Given the description of an element on the screen output the (x, y) to click on. 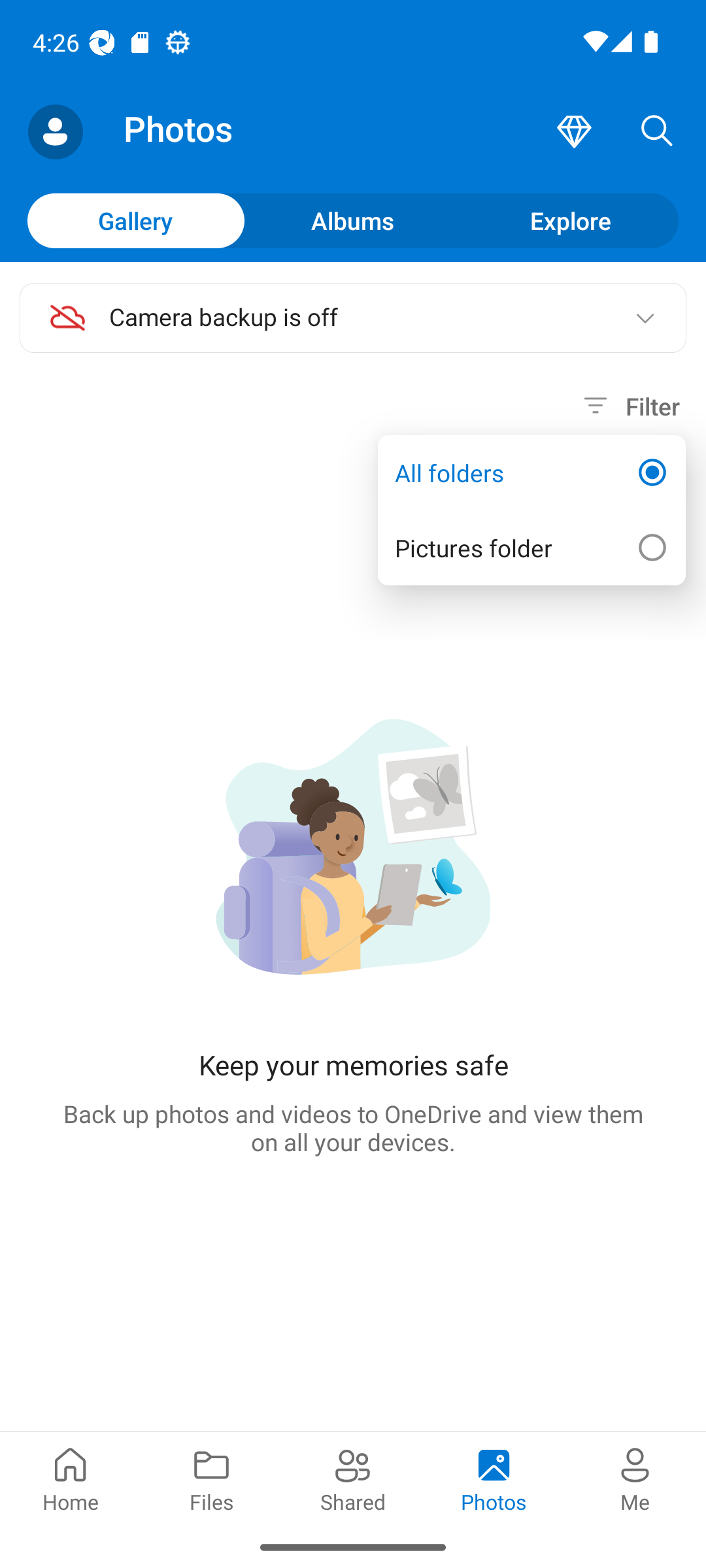
All folders (531, 472)
Pictures folder (531, 546)
